Given the description of an element on the screen output the (x, y) to click on. 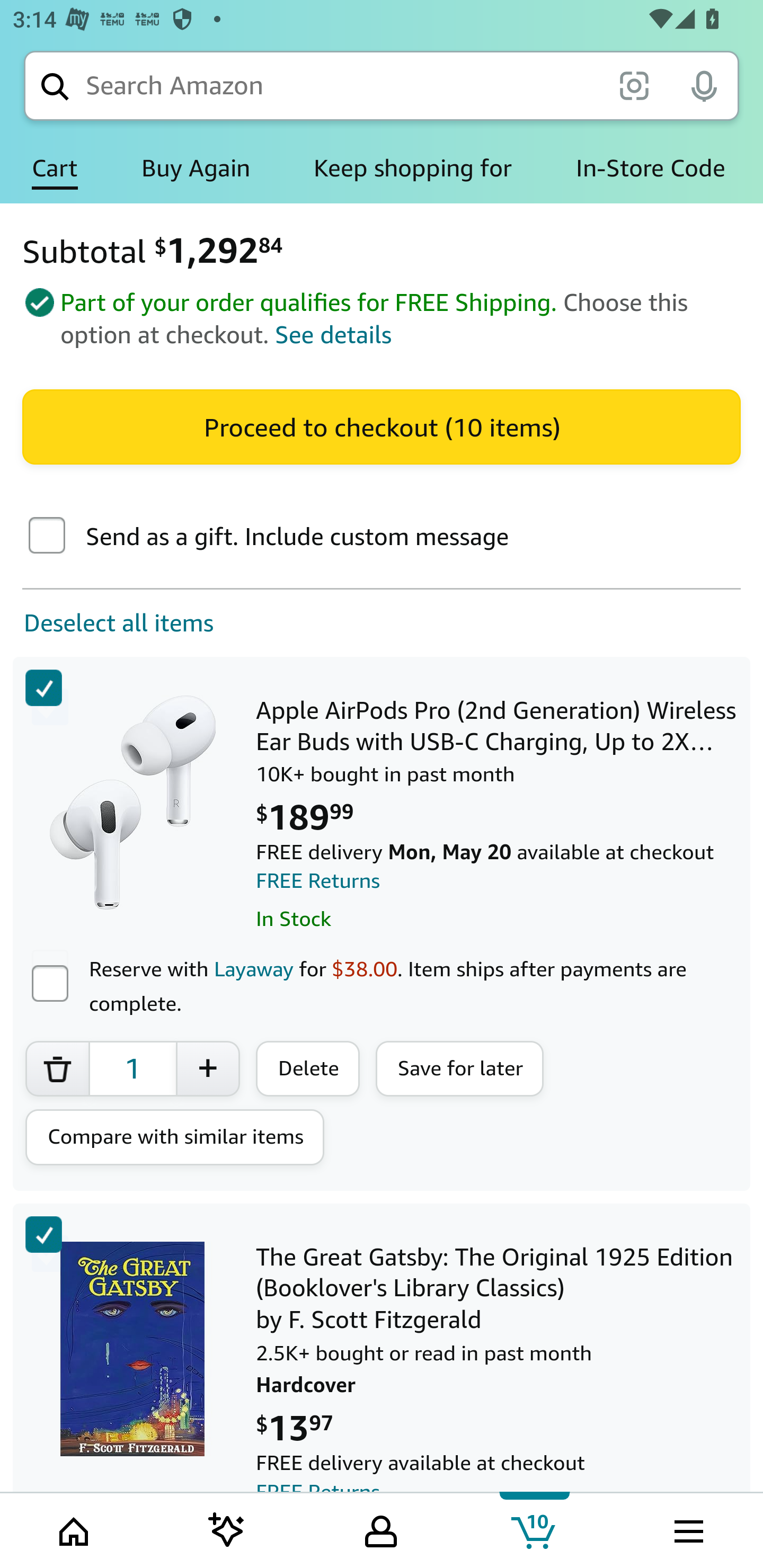
scan it (633, 85)
Cart (54, 168)
Buy Again (195, 168)
Keep shopping for (412, 168)
In-Store Code (650, 168)
See details (333, 334)
Proceed to checkout (10 items) (381, 426)
Send as a gift. Include custom message (46, 536)
Deselect all items (107, 623)
FREE Returns (318, 880)
Layaway (252, 967)
Delete (308, 1068)
Save for later (459, 1068)
1 (132, 1068)
Compare with similar items (174, 1137)
Home Tab 1 of 5 (75, 1529)
Inspire feed Tab 2 of 5 (227, 1529)
Your Amazon.com Tab 3 of 5 (380, 1529)
Cart 10 items Tab 4 of 5 10 (534, 1529)
Browse menu Tab 5 of 5 (687, 1529)
